Given the description of an element on the screen output the (x, y) to click on. 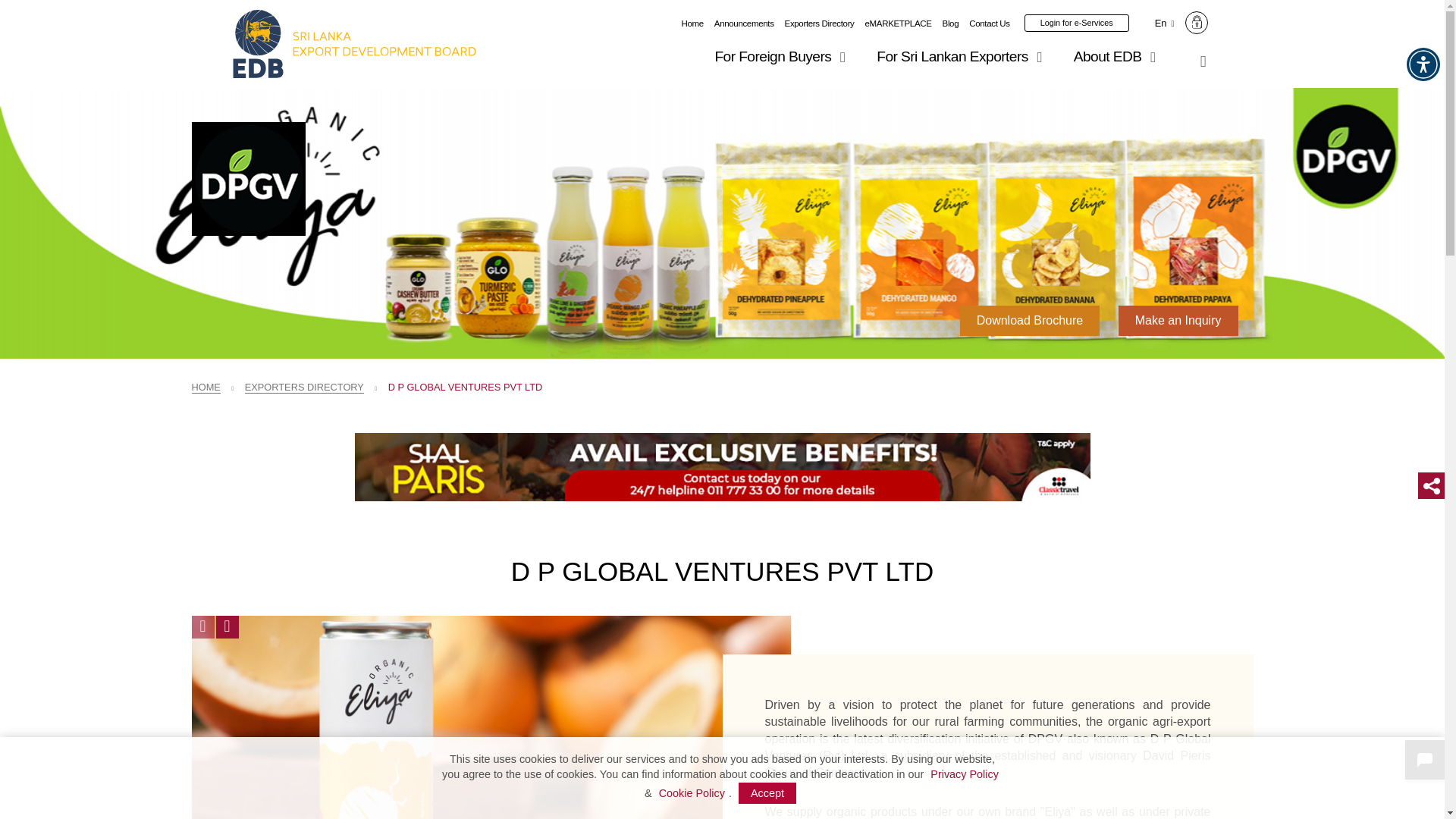
About EDB (1117, 56)
eMARKETPLACE (897, 22)
Login for e-Services (1077, 22)
Make an Inquire (1178, 320)
D P GLOBAL VENTURES PVT LTD (490, 717)
Contact Us (989, 22)
Export Development Board  (354, 43)
Download Brochure (1029, 320)
D P GLOBAL VENTURES PVT LTD (247, 178)
Accessibility Menu (1422, 64)
For Foreign Buyers (782, 56)
Make an Inquiry (1178, 320)
Announcements (744, 22)
Download Brochure (1029, 320)
For Sri Lankan Exporters (961, 56)
